Given the description of an element on the screen output the (x, y) to click on. 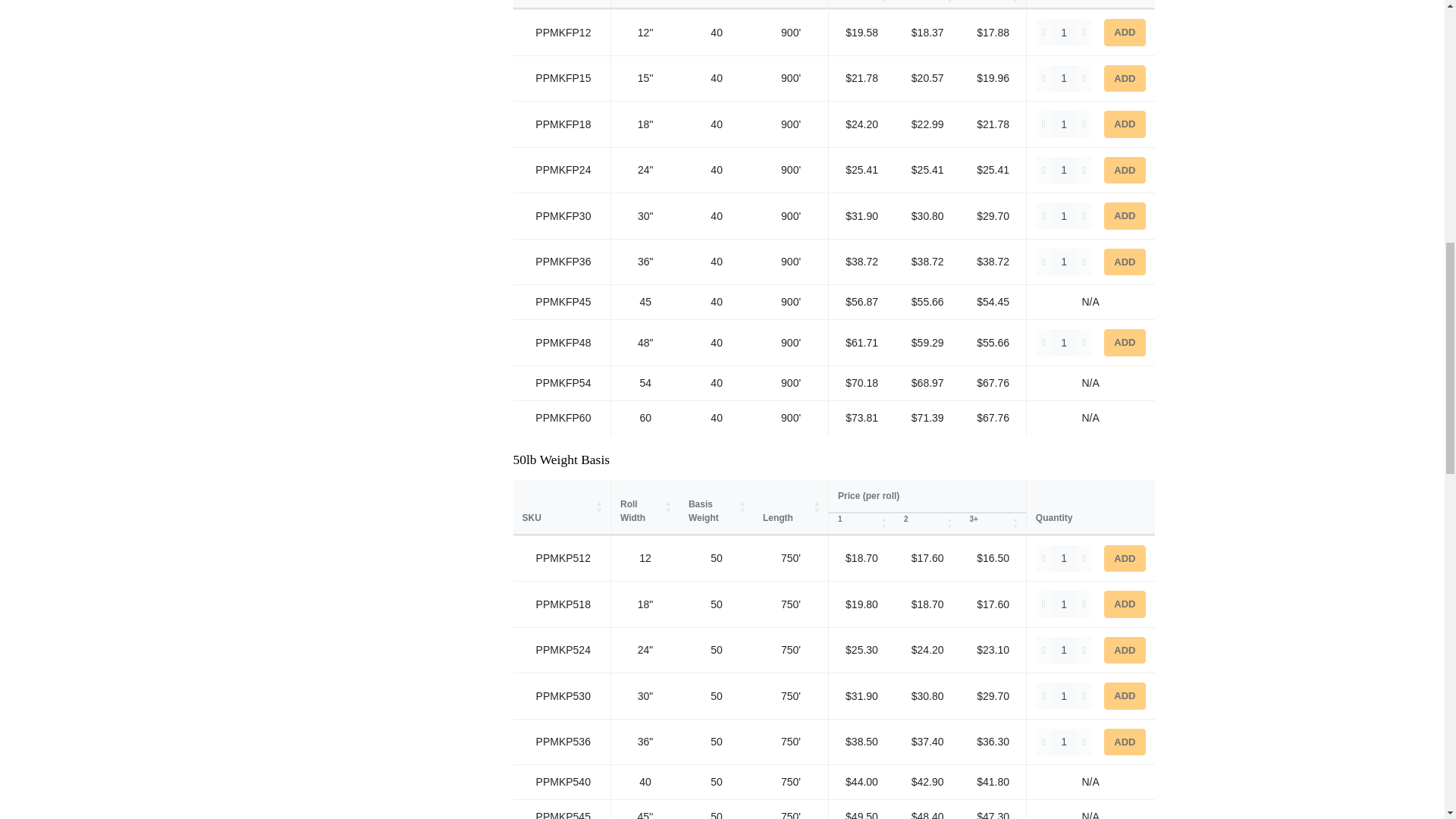
Add (1123, 170)
Add (1123, 342)
1 (1064, 170)
1 (1064, 123)
Add (1123, 78)
1 (1064, 558)
Add (1123, 558)
1 (1064, 215)
1 (1064, 78)
1 (1064, 603)
Add (1123, 262)
Add (1123, 124)
Add (1123, 604)
1 (1064, 31)
1 (1064, 342)
